Given the description of an element on the screen output the (x, y) to click on. 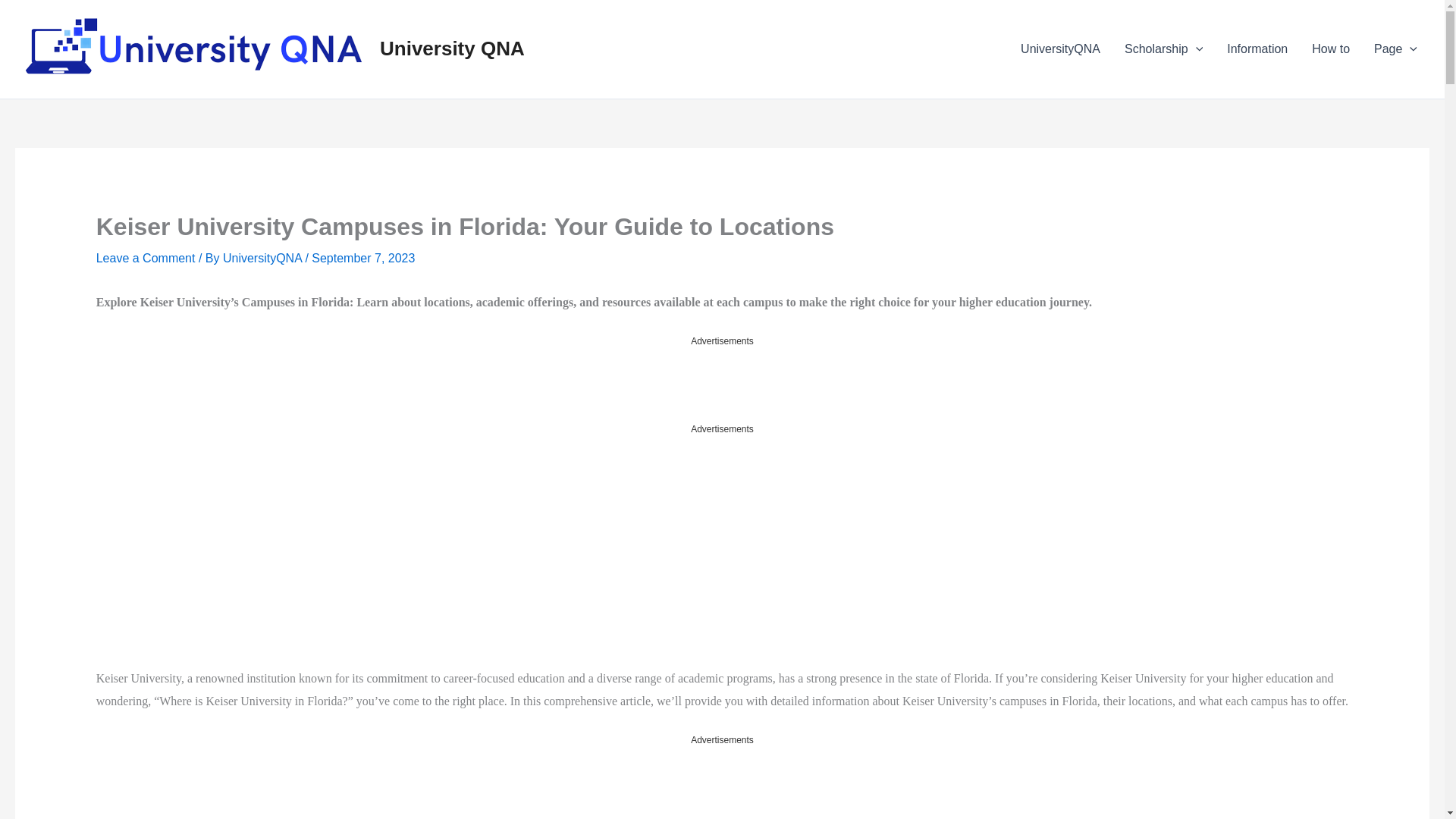
Advertisement (721, 384)
Information (1257, 48)
Page (1395, 48)
UniversityQNA (1060, 48)
Advertisement (235, 551)
UniversityQNA (263, 257)
How to (1330, 48)
Leave a Comment (145, 257)
University QNA (452, 47)
View all posts by UniversityQNA (263, 257)
Scholarship (1163, 48)
Advertisement (721, 782)
